Given the description of an element on the screen output the (x, y) to click on. 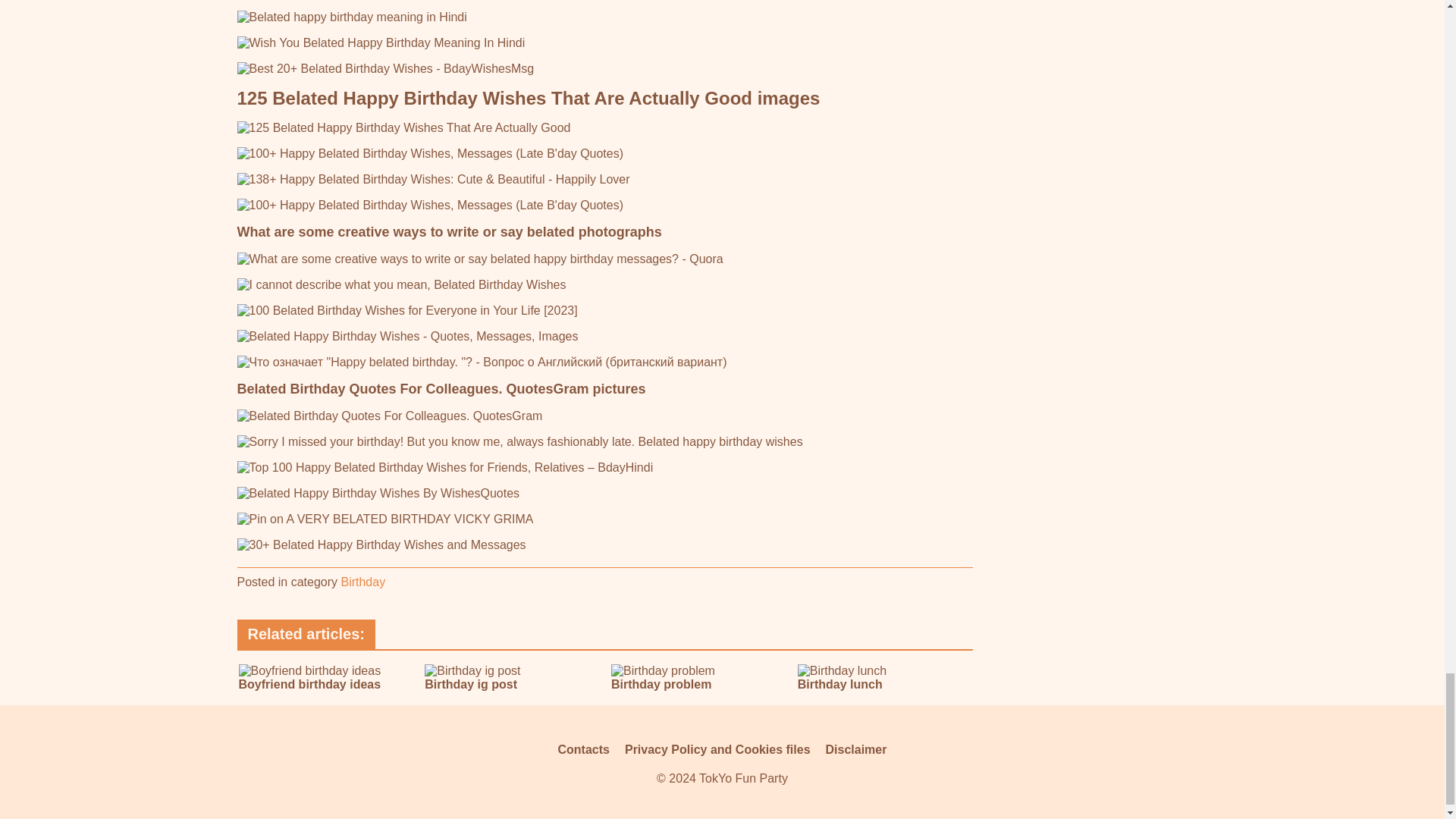
Privacy Policy and Cookies files (717, 748)
Disclaimer (855, 748)
Birthday lunch (884, 677)
Contacts (583, 748)
Birthday problem (697, 677)
Birthday (362, 581)
Boyfriend birthday ideas (325, 677)
Birthday ig post (511, 677)
